Given the description of an element on the screen output the (x, y) to click on. 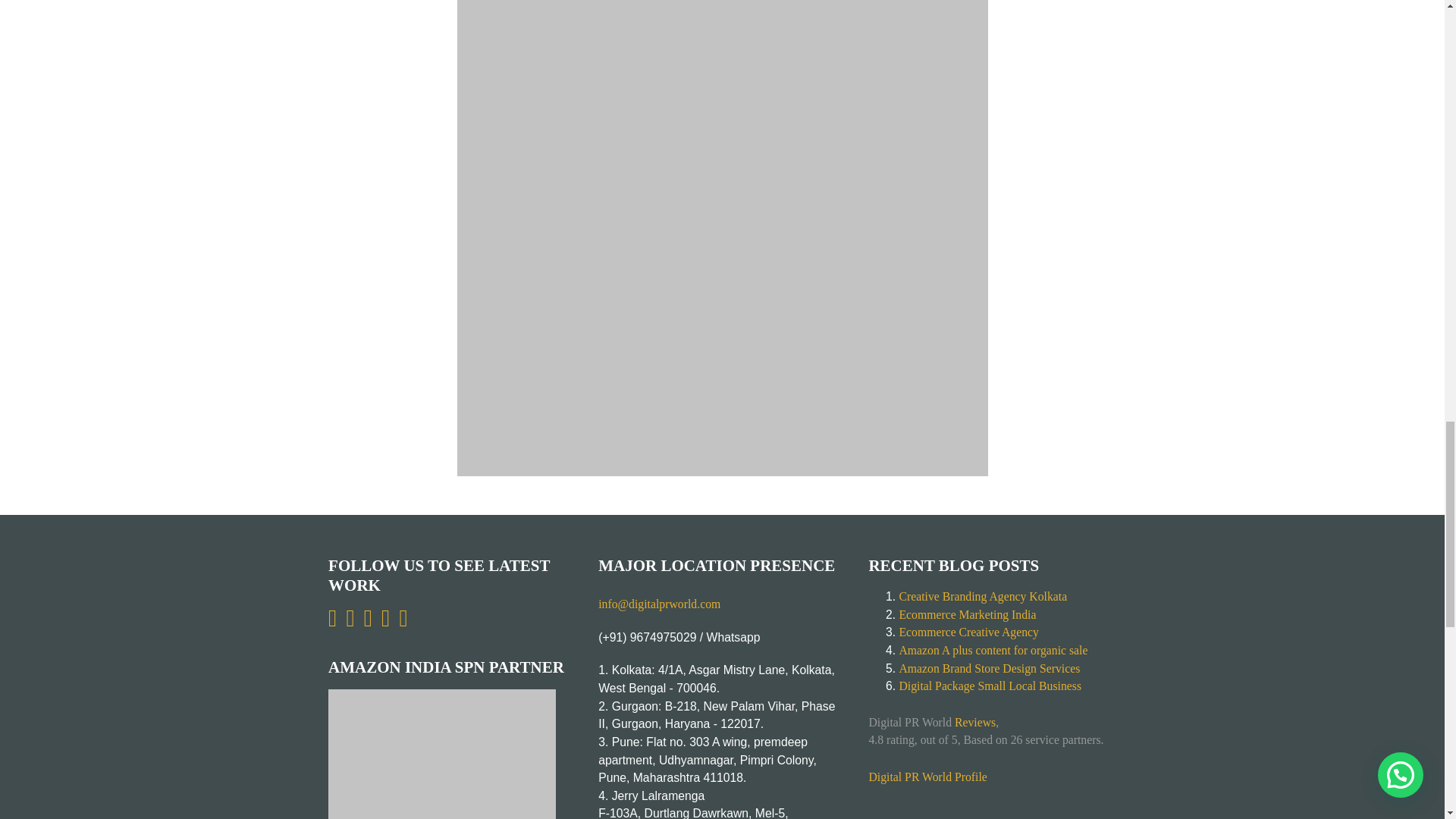
Check all reviews (975, 721)
Check all reviews (927, 776)
